Given the description of an element on the screen output the (x, y) to click on. 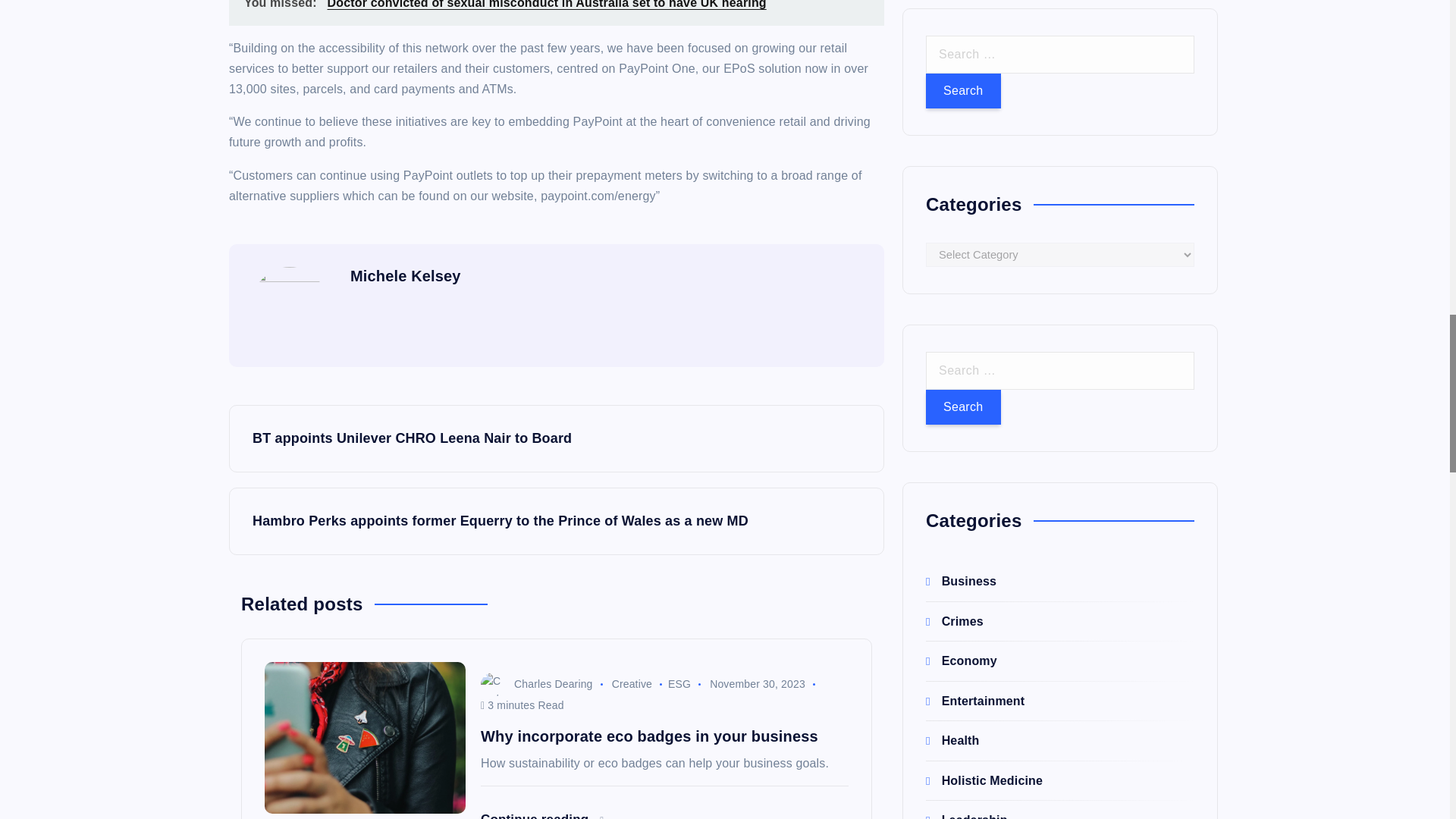
Creative (631, 684)
ESG (679, 684)
Continue reading (542, 815)
Charles Dearing (536, 684)
BT appoints Unilever CHRO Leena Nair to Board (555, 438)
